Given the description of an element on the screen output the (x, y) to click on. 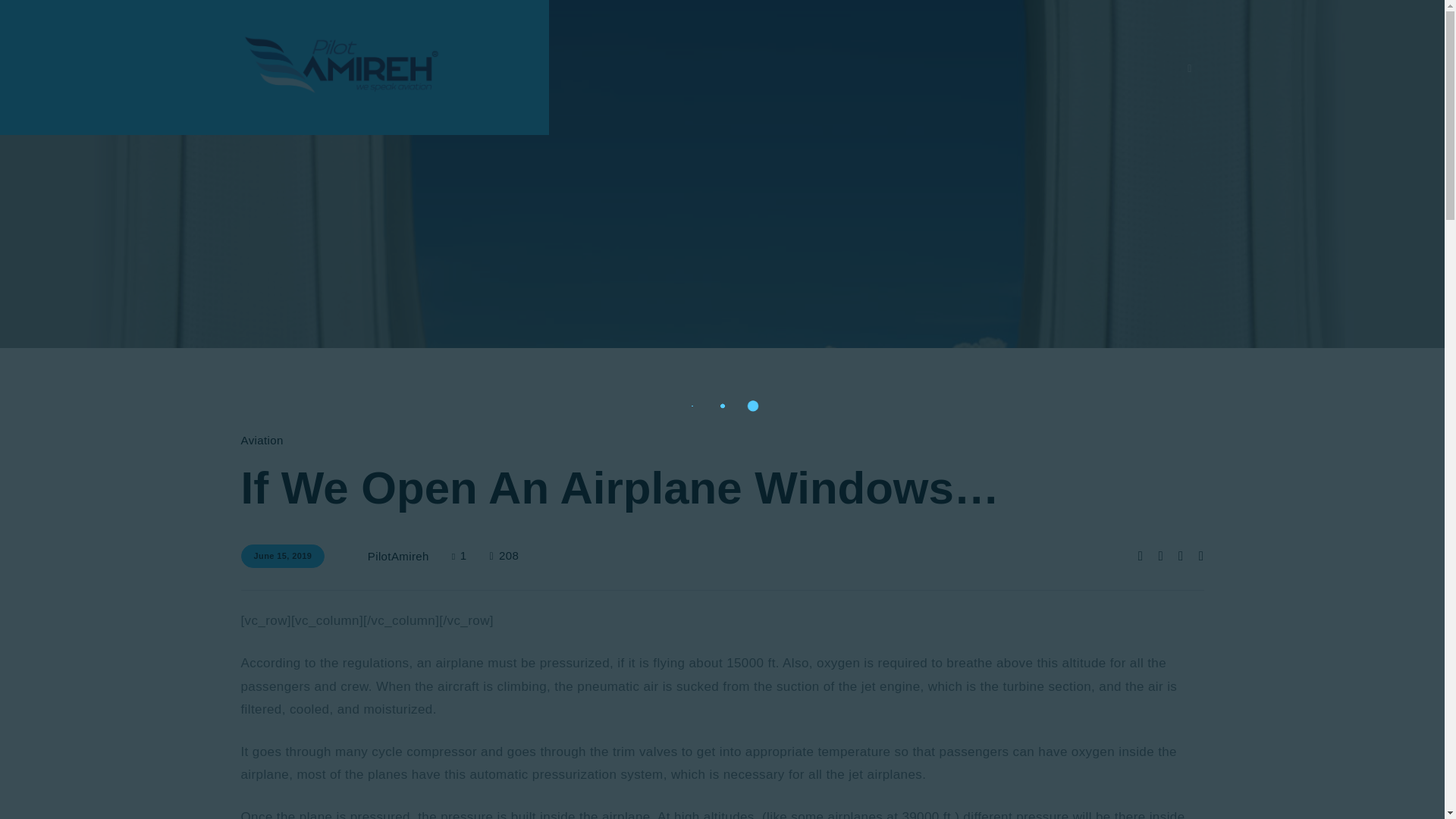
1 (470, 556)
208 (503, 556)
Aviation (262, 440)
PilotAmireh (395, 557)
